Given the description of an element on the screen output the (x, y) to click on. 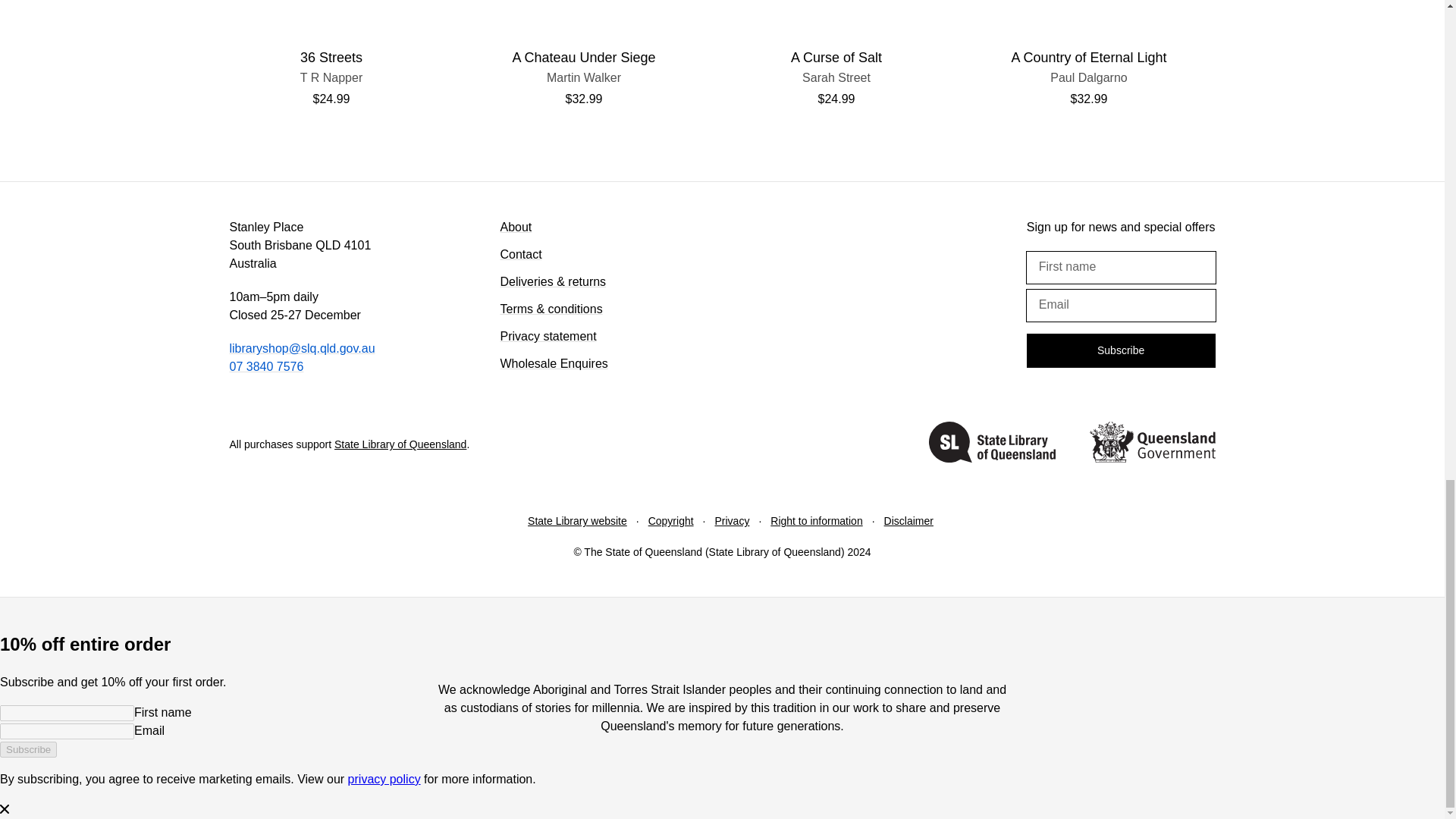
Go to Queensland State Library homepage (992, 444)
tel:07 3840 7576 (265, 366)
Go to Queensland Government homepage (836, 77)
